Given the description of an element on the screen output the (x, y) to click on. 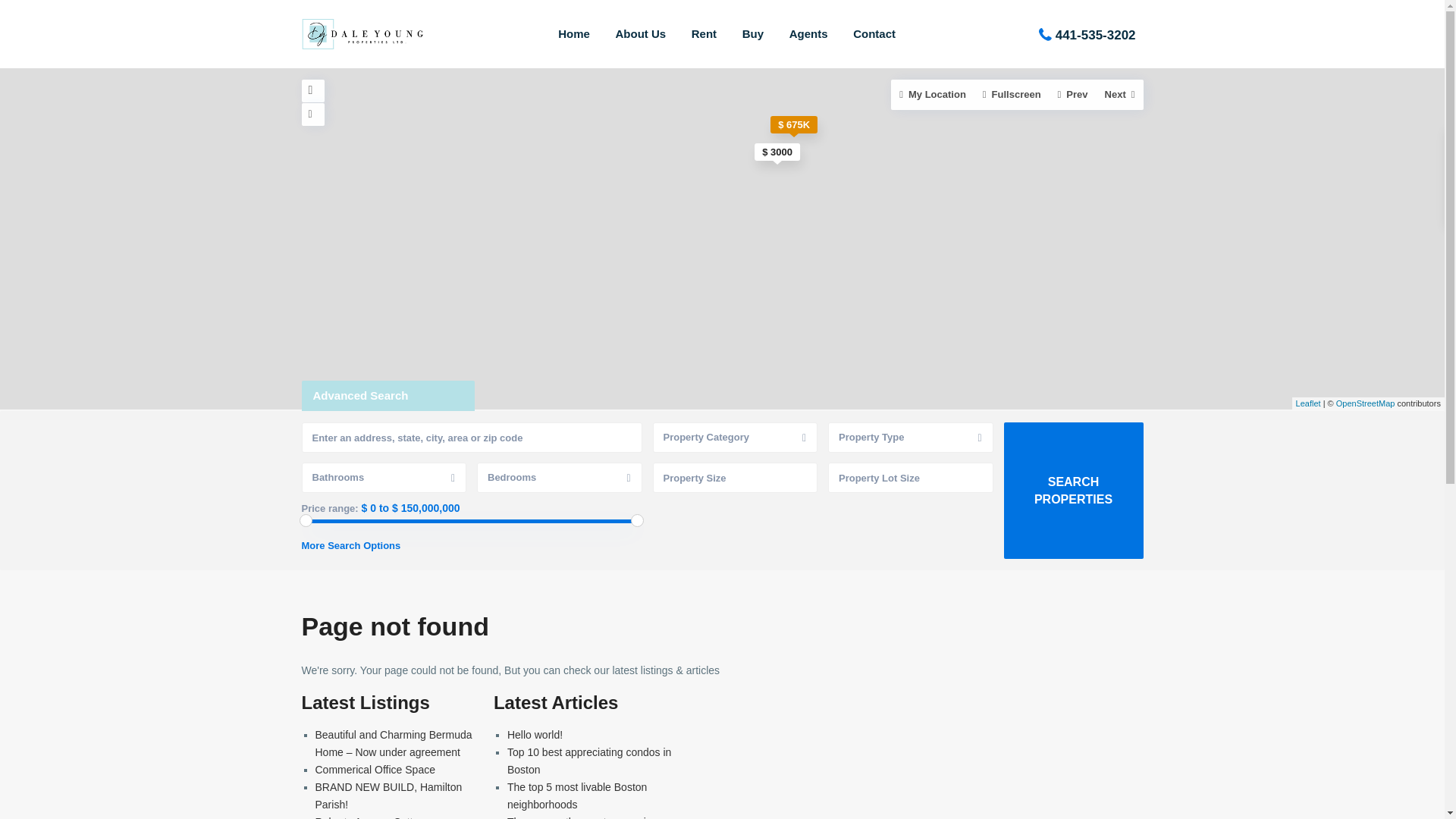
Contact (874, 33)
SEARCH PROPERTIES (1073, 490)
441-535-3202 (1095, 34)
OpenStreetMap (1365, 402)
SEARCH PROPERTIES (1073, 490)
About Us (640, 33)
The top 5 most livable Boston neighborhoods (576, 795)
A JS library for interactive maps (1307, 402)
Hello world! (534, 734)
Top 10 best appreciating condos in Boston (588, 760)
Agents (808, 33)
Roberts Avenue Cottage (372, 817)
These were the most expensive Boston condos in 2020 (582, 817)
Commerical Office Space (375, 769)
BRAND NEW BUILD, Hamilton Parish! (389, 795)
